Given the description of an element on the screen output the (x, y) to click on. 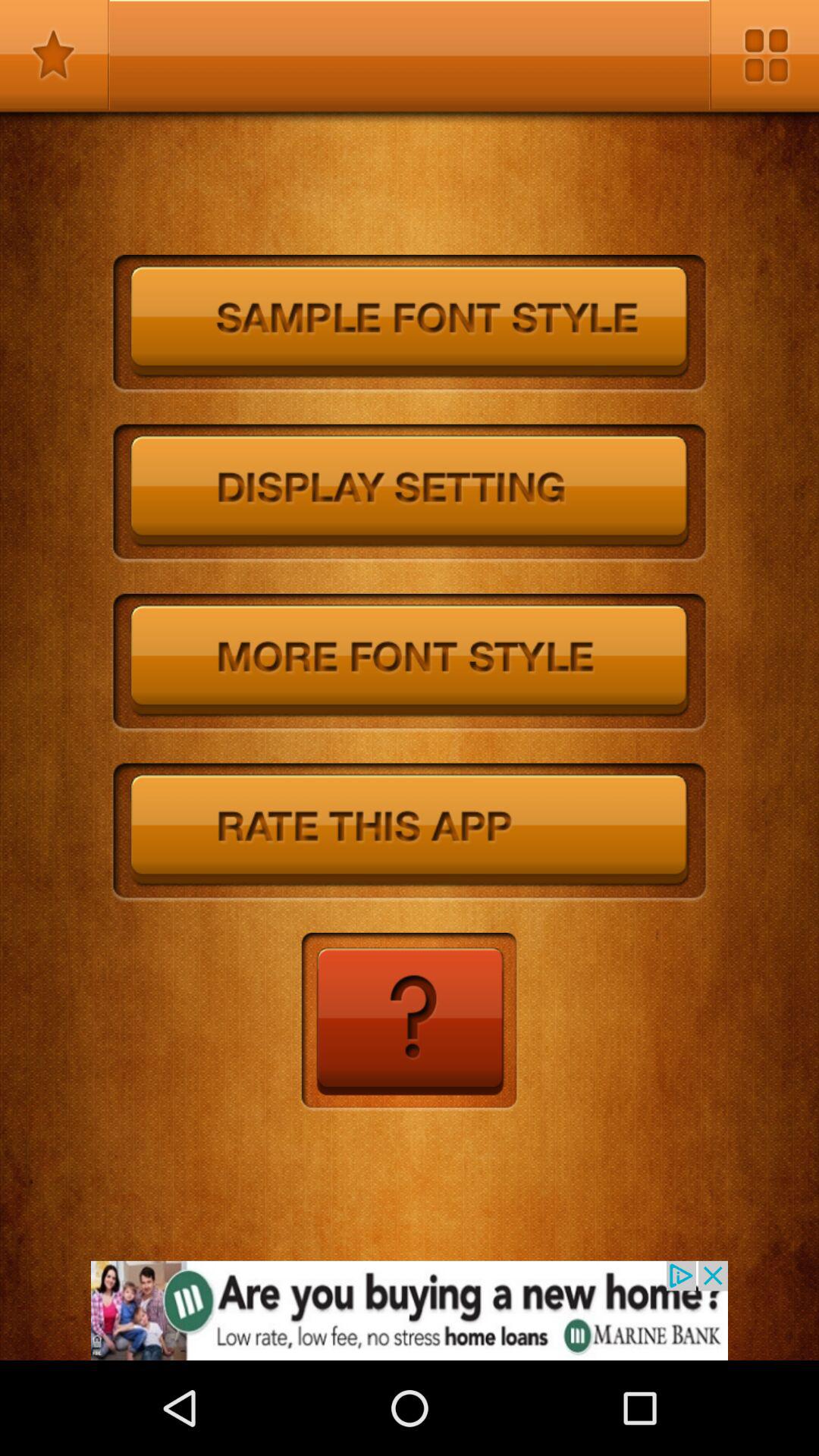
advertisement (409, 1310)
